Given the description of an element on the screen output the (x, y) to click on. 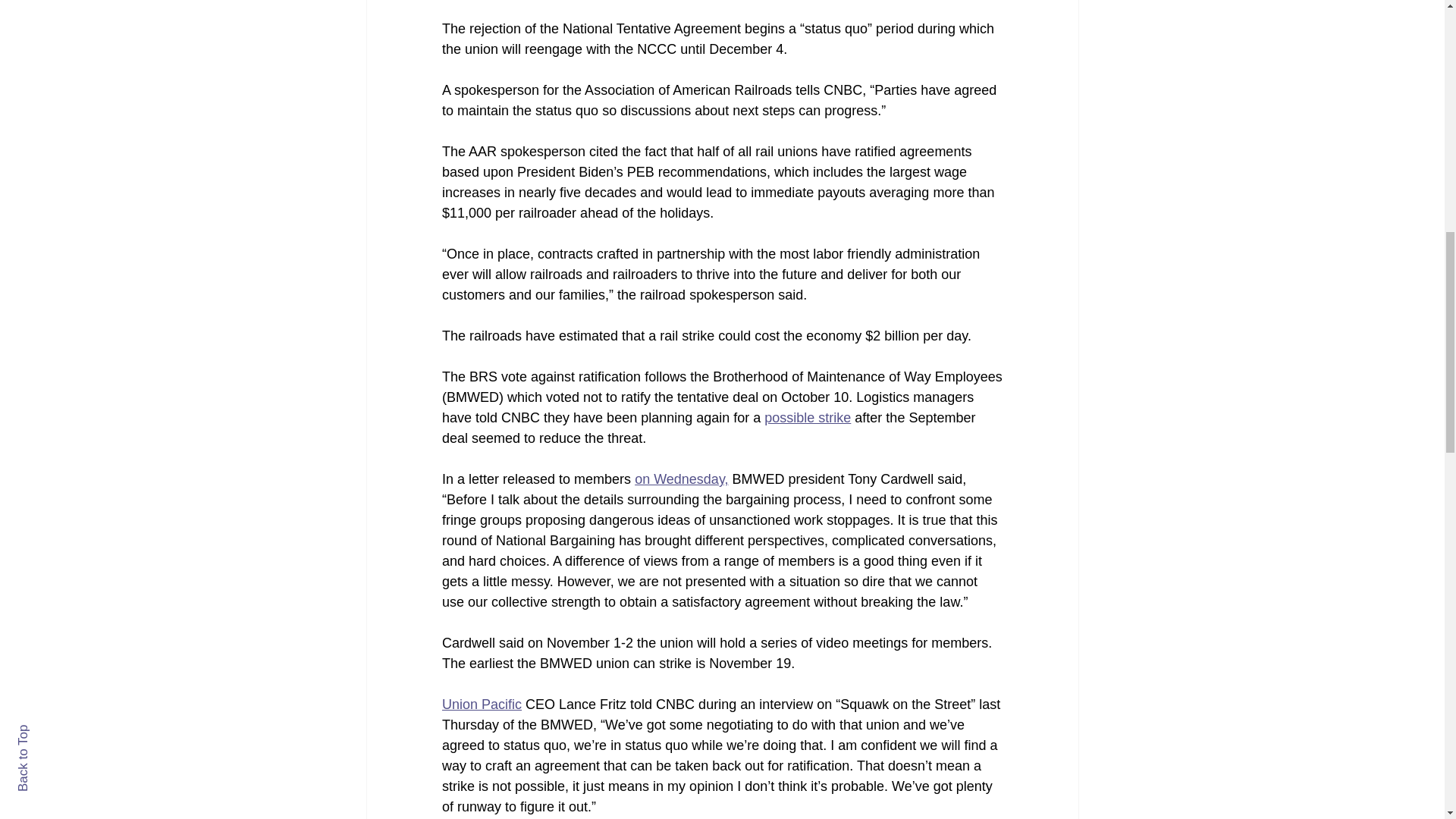
on Wednesday, (681, 478)
possible strike (807, 417)
Union Pacific (481, 703)
